Given the description of an element on the screen output the (x, y) to click on. 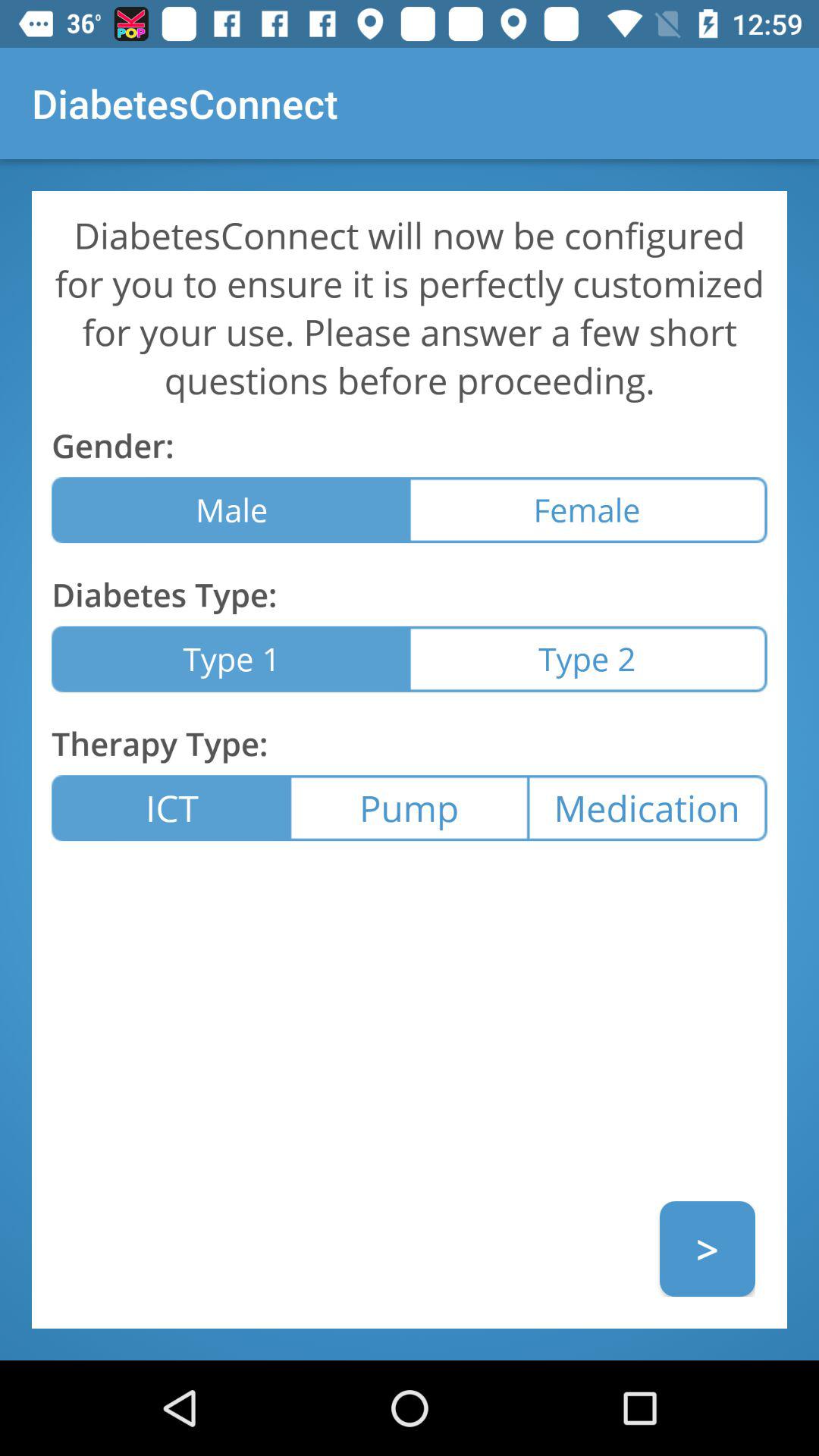
open item next to type 2 item (230, 659)
